Given the description of an element on the screen output the (x, y) to click on. 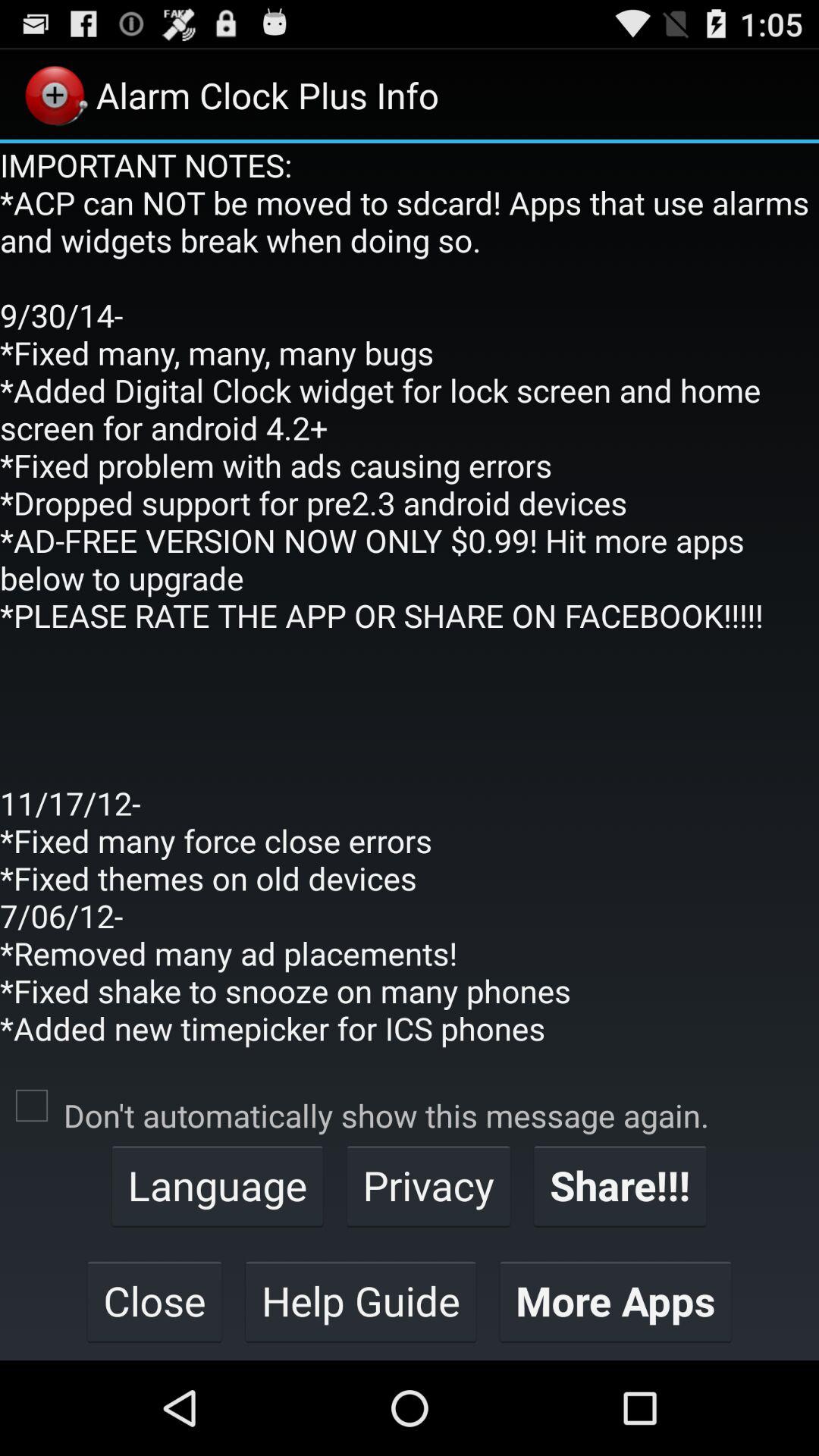
turn off the share!!! (620, 1185)
